Given the description of an element on the screen output the (x, y) to click on. 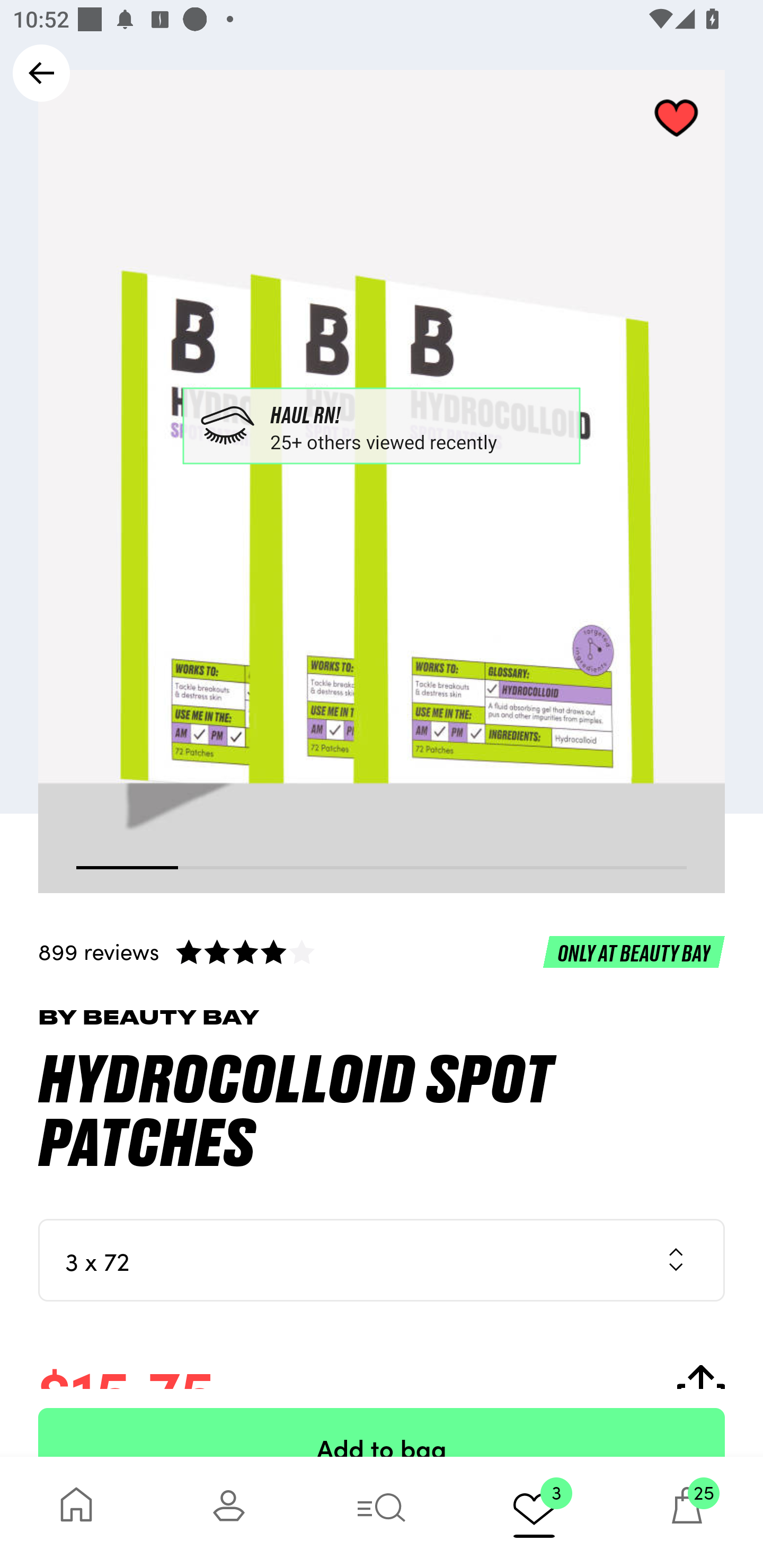
899 reviews (381, 950)
3 x 72    (381, 1259)
3 (533, 1512)
25 (686, 1512)
